Given the description of an element on the screen output the (x, y) to click on. 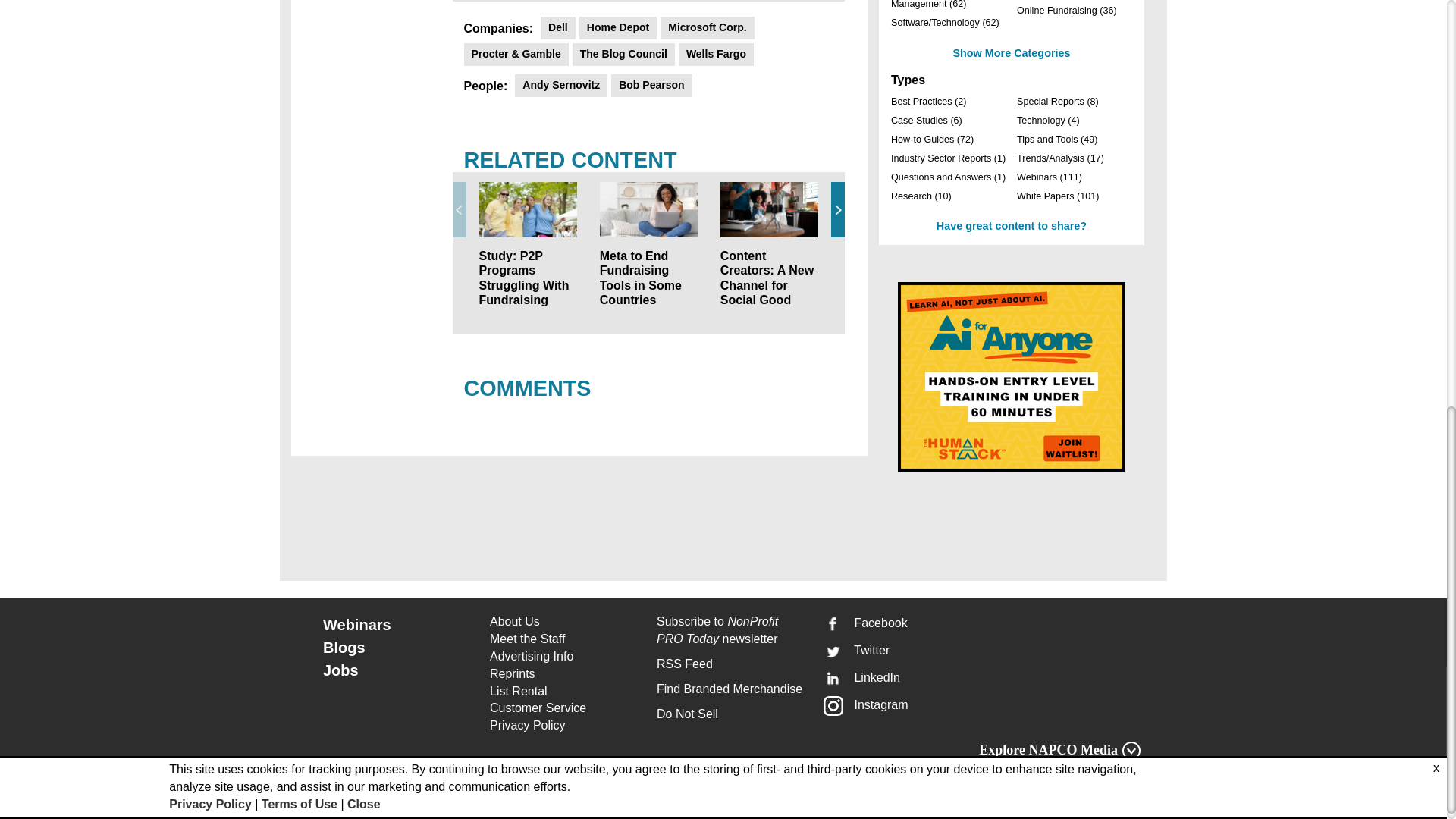
3rd party ad content (1011, 376)
Opens in a new window (564, 725)
Opens in a new window (564, 708)
